Given the description of an element on the screen output the (x, y) to click on. 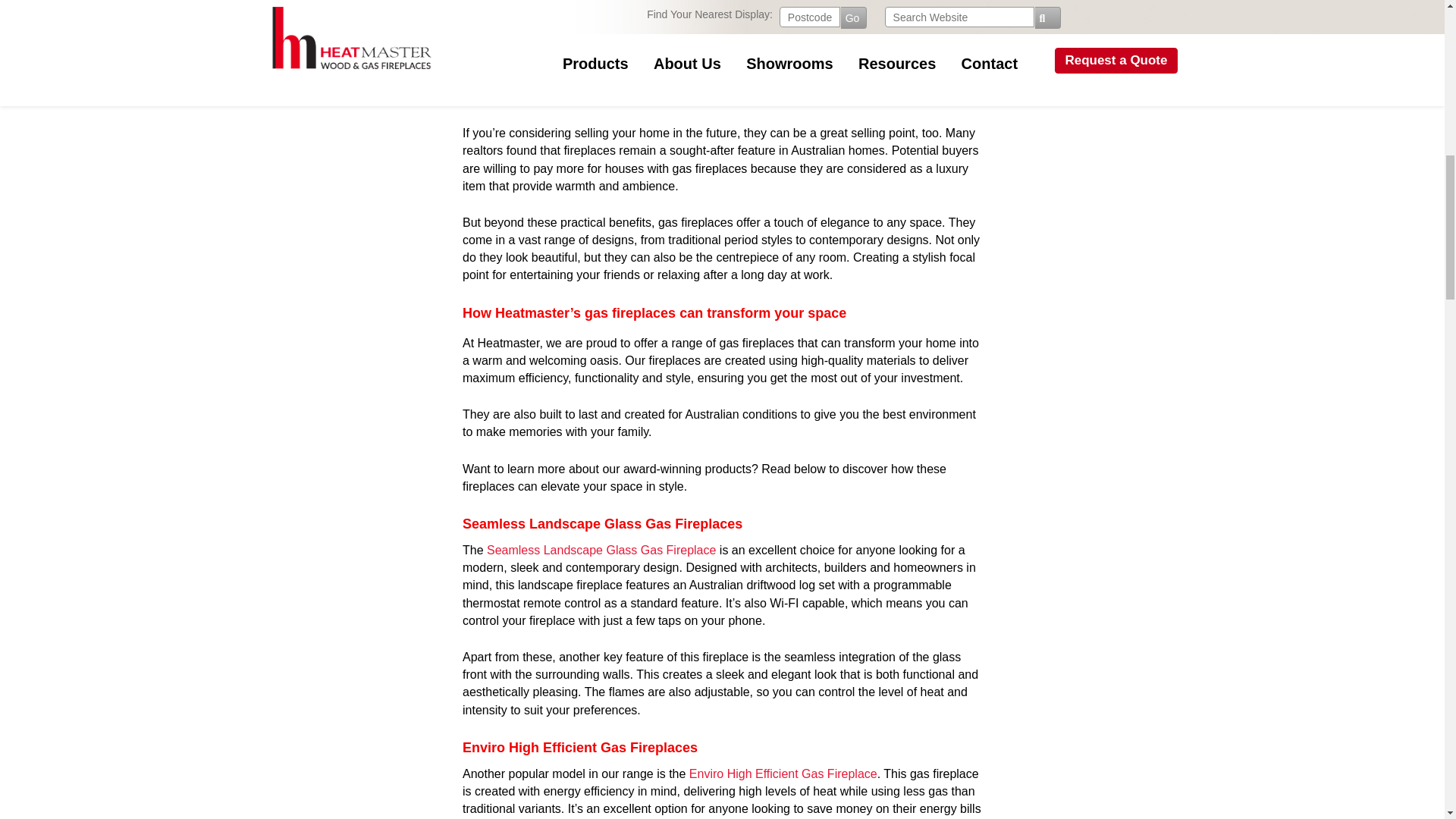
Seamless Landscape Glass Gas Fireplace (601, 549)
Enviro High Efficient Gas Fireplace (782, 773)
